Given the description of an element on the screen output the (x, y) to click on. 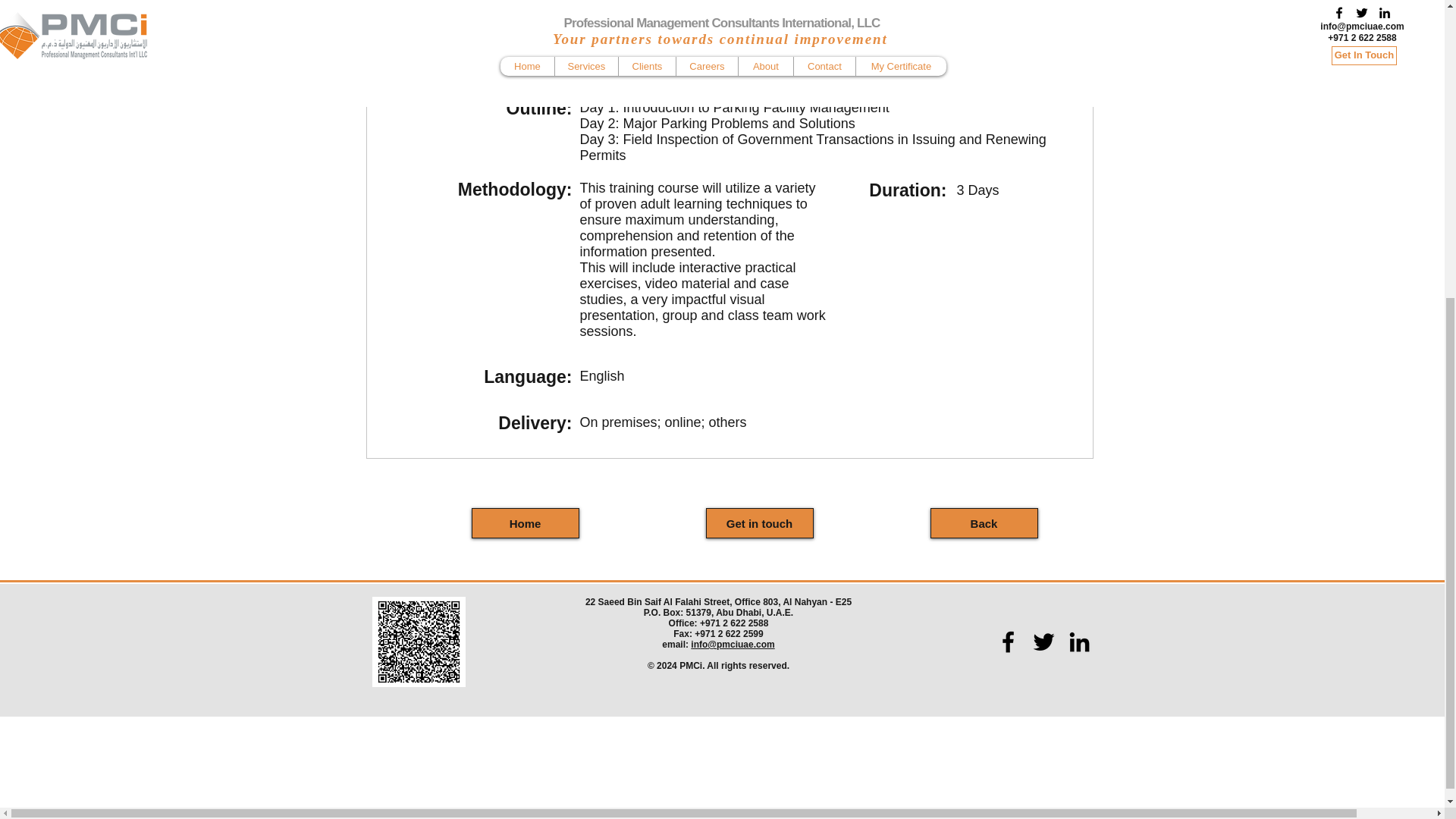
Get in touch (758, 522)
Back (983, 522)
Home (525, 522)
